Given the description of an element on the screen output the (x, y) to click on. 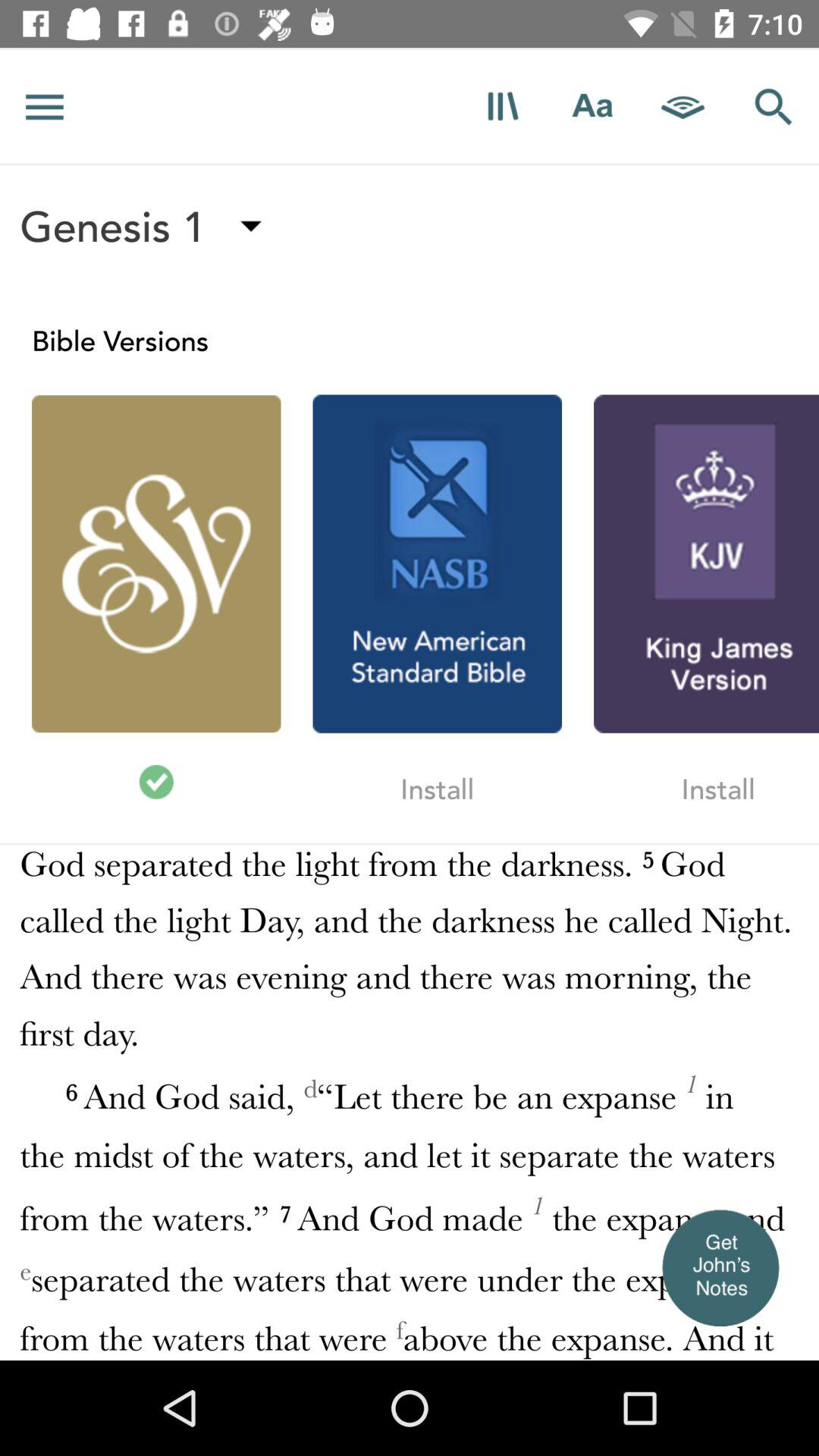
wifi (683, 106)
